Given the description of an element on the screen output the (x, y) to click on. 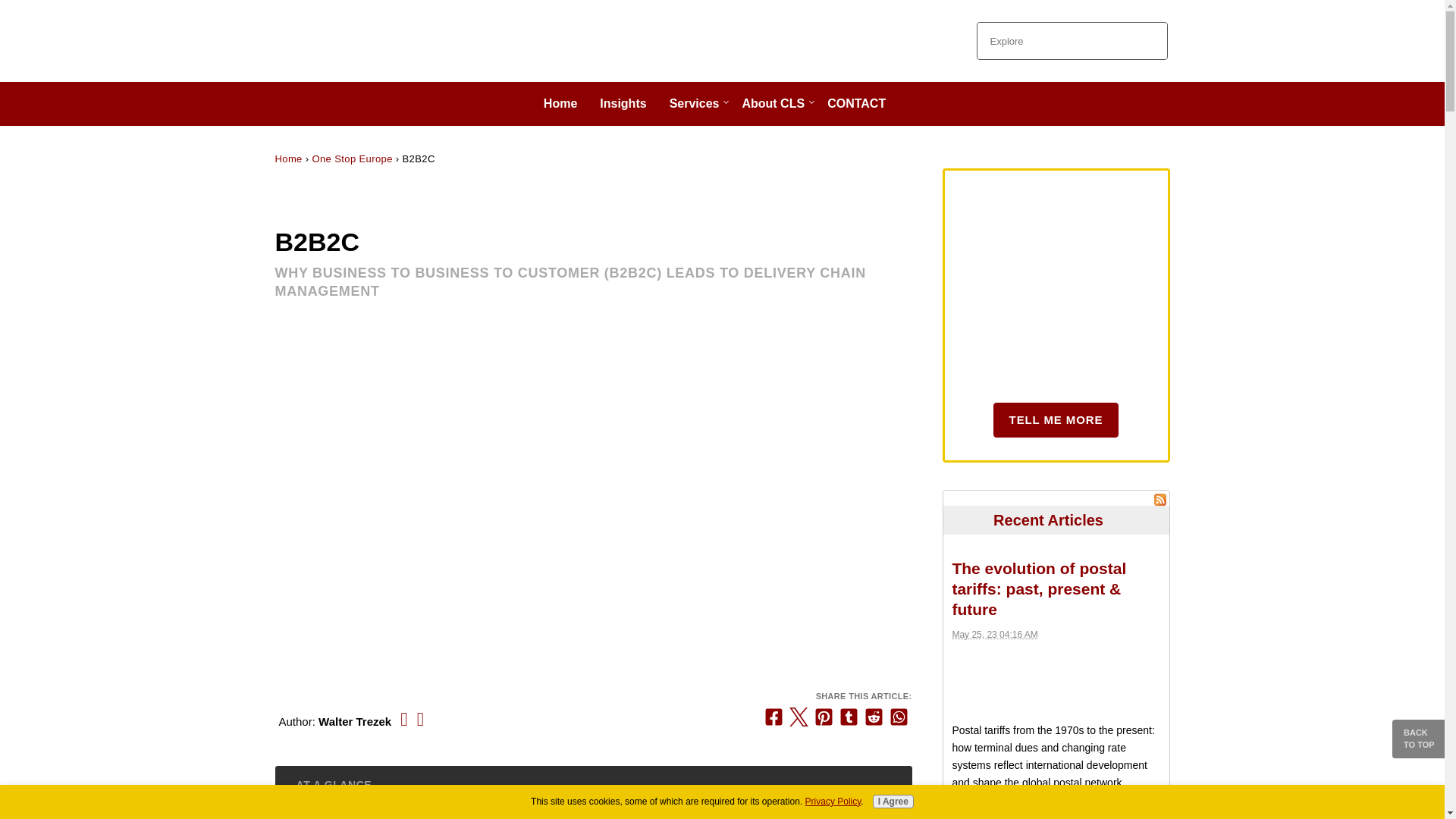
Go to The CLS Business Lounge: Are You Ready To Upgrade? (1055, 419)
My Website (344, 40)
Home (288, 158)
CONTACT (860, 103)
Explore (1053, 40)
Explore (1053, 40)
Home (563, 103)
Go (1148, 40)
Go (1148, 40)
2023-05-25T04:16:40-0400 (994, 634)
